Given the description of an element on the screen output the (x, y) to click on. 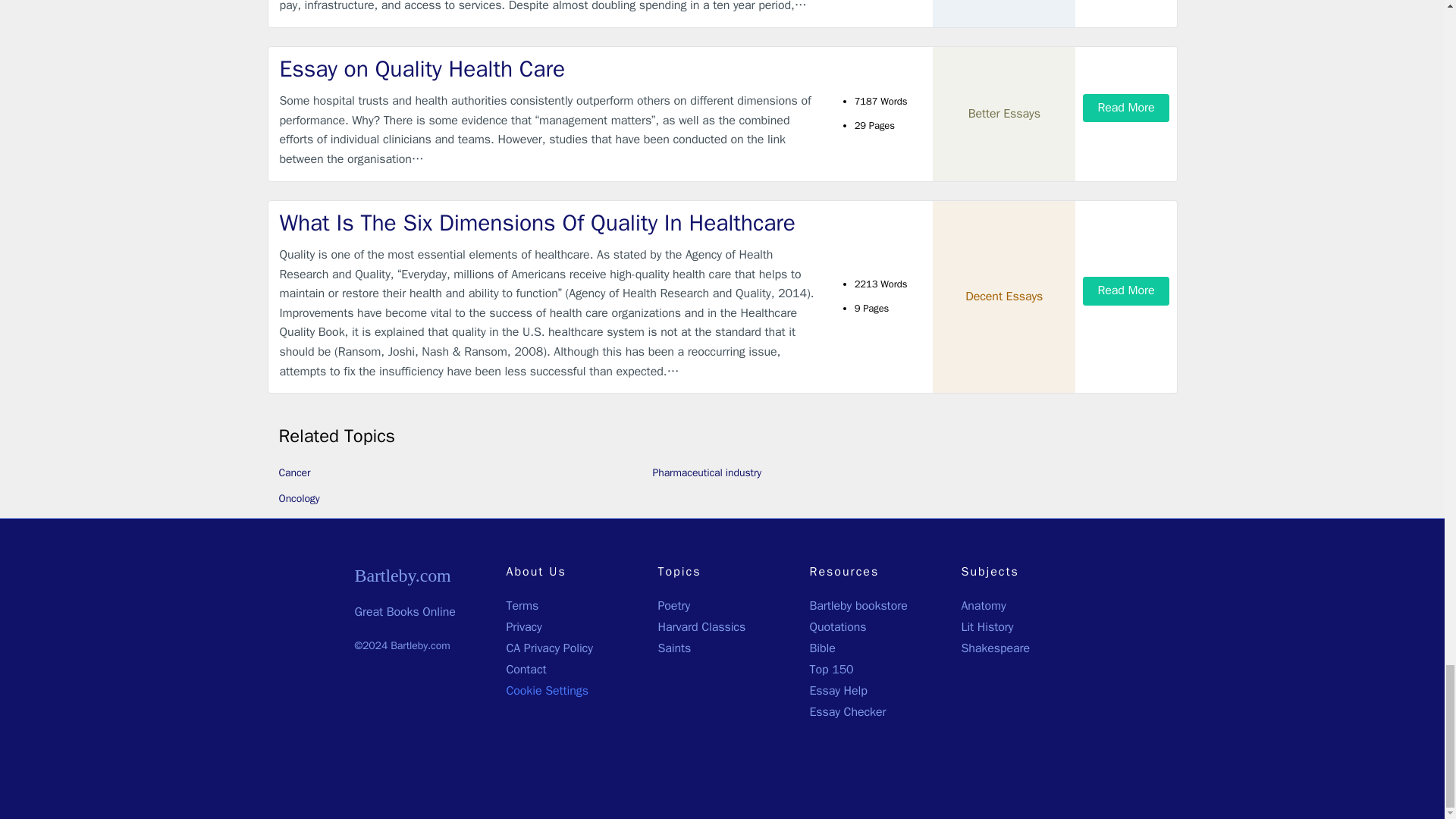
Pharmaceutical industry (706, 472)
Cancer (295, 472)
Oncology (299, 498)
